Given the description of an element on the screen output the (x, y) to click on. 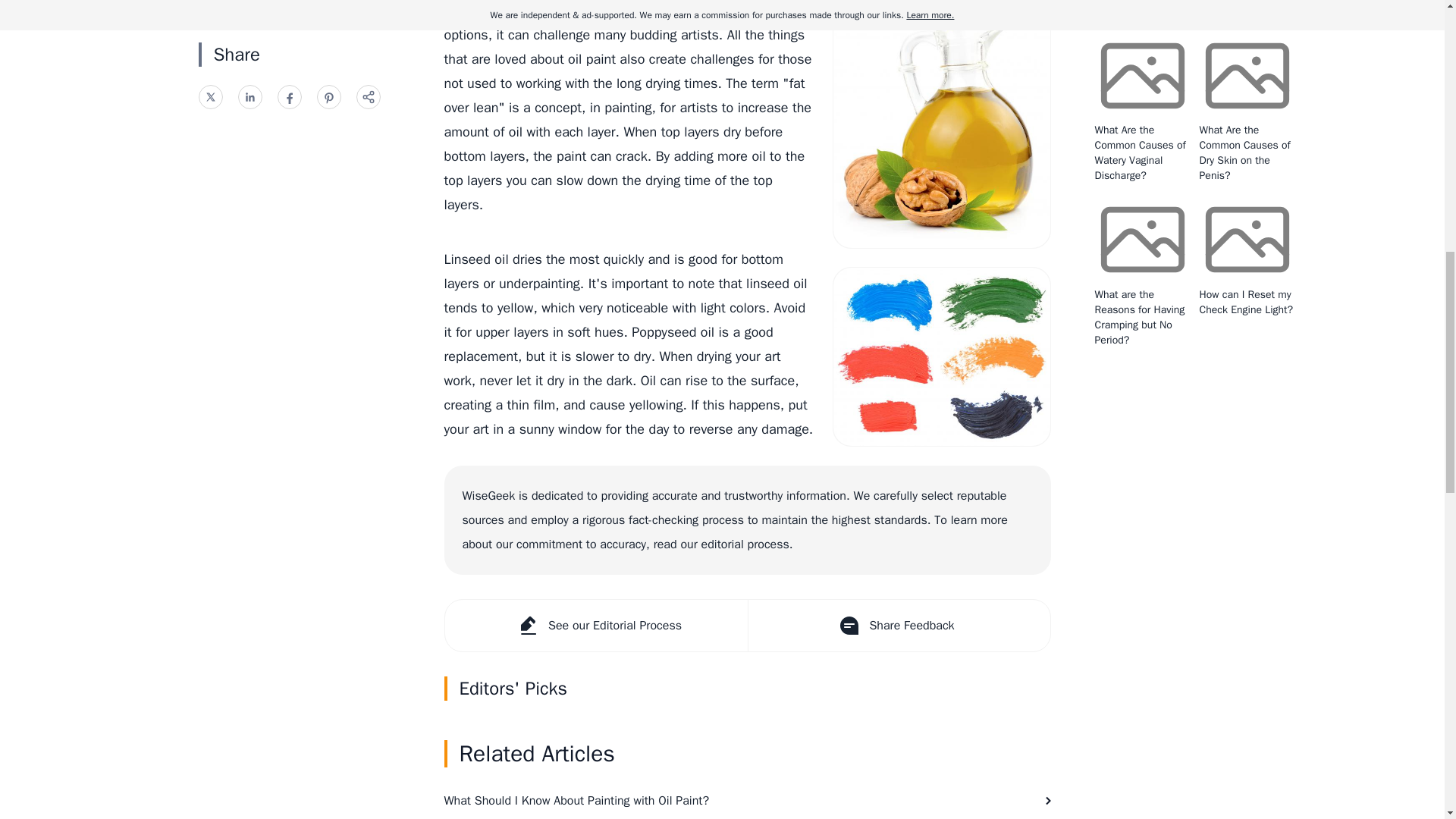
What Should I Know About Painting with Oil Paint? (747, 799)
See our Editorial Process (595, 625)
Share Feedback (898, 625)
